Given the description of an element on the screen output the (x, y) to click on. 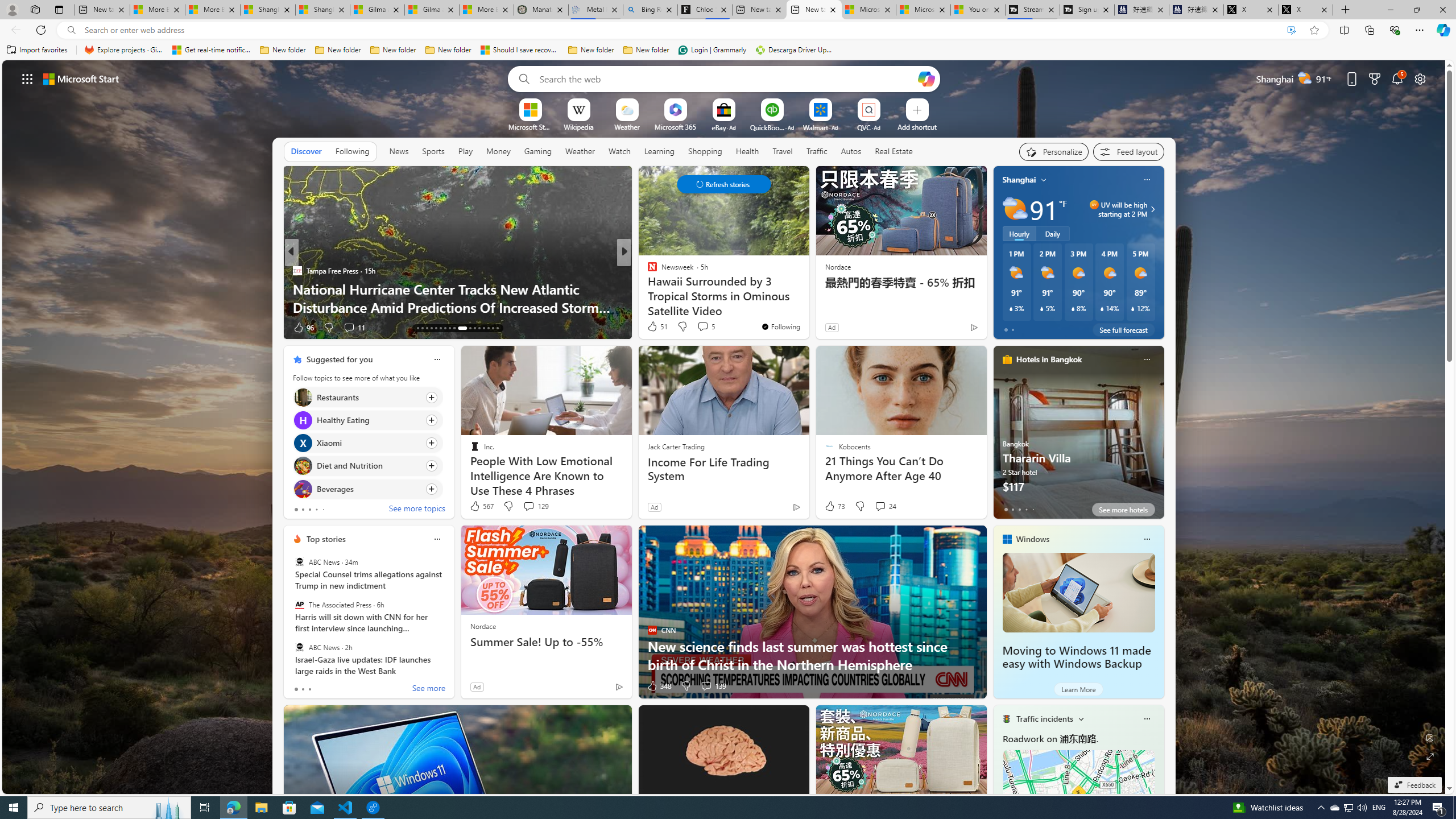
View comments 11 Comment (353, 327)
View comments 35 Comment (6, 327)
View comments 7 Comment (698, 327)
AutomationID: tab-25 (454, 328)
View comments 24 Comment (885, 505)
Enter your search term (726, 78)
View comments 32 Comment (6, 327)
My location (1043, 179)
Beverages (302, 488)
